Given the description of an element on the screen output the (x, y) to click on. 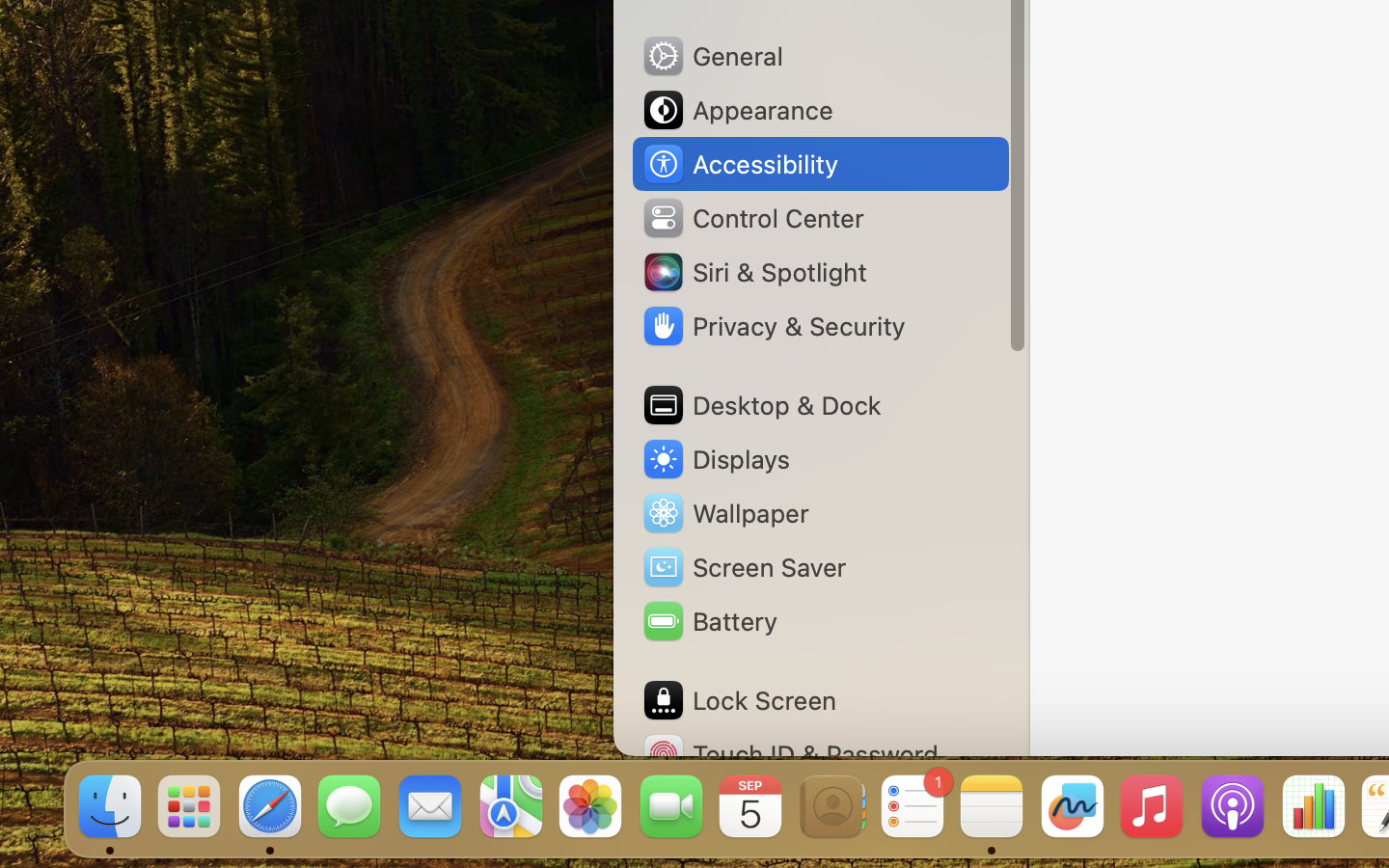
Control Center Element type: AXStaticText (752, 217)
Appearance Element type: AXStaticText (736, 109)
Accessibility Element type: AXStaticText (739, 163)
